Given the description of an element on the screen output the (x, y) to click on. 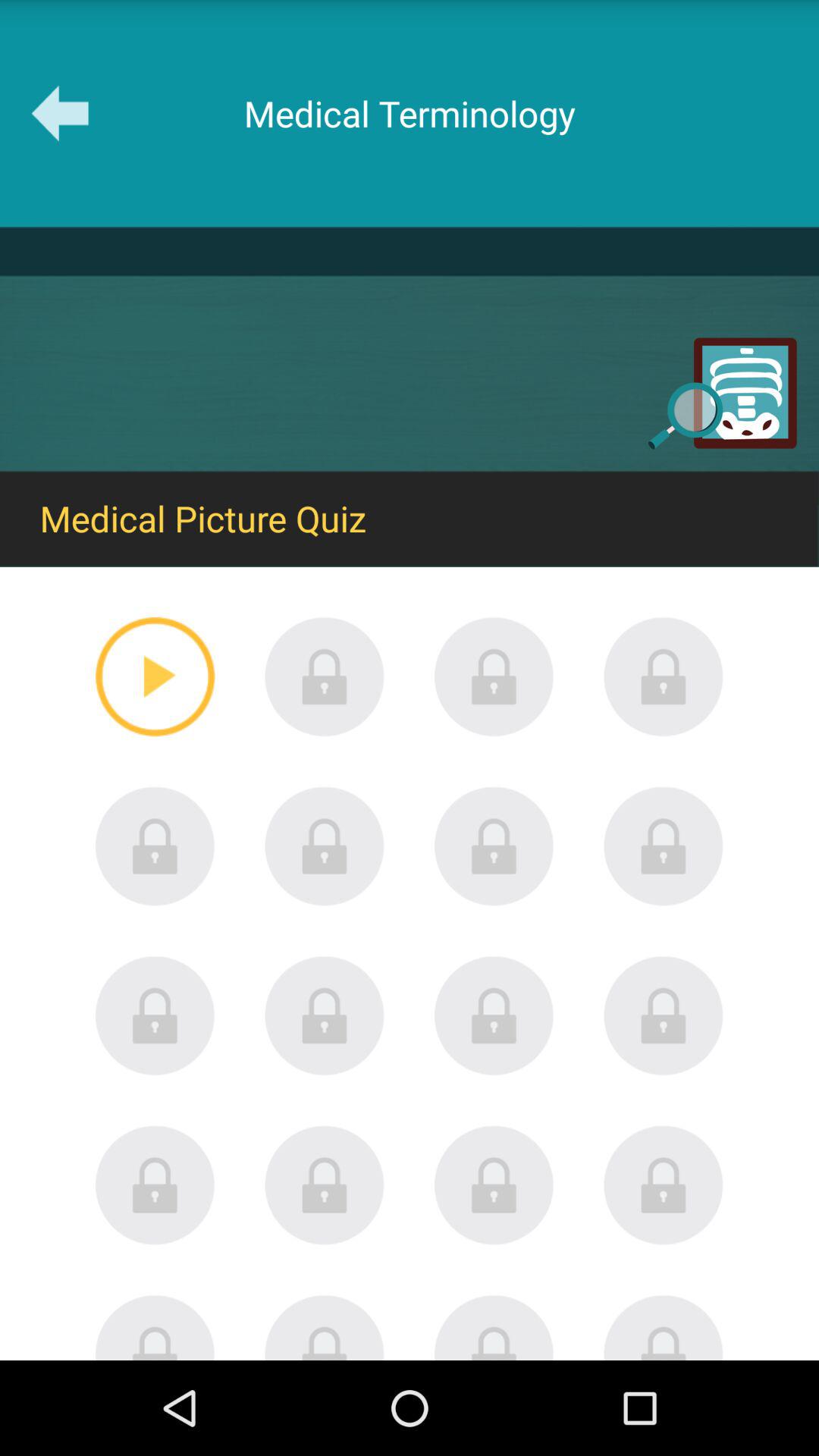
locked quiz (663, 1184)
